Given the description of an element on the screen output the (x, y) to click on. 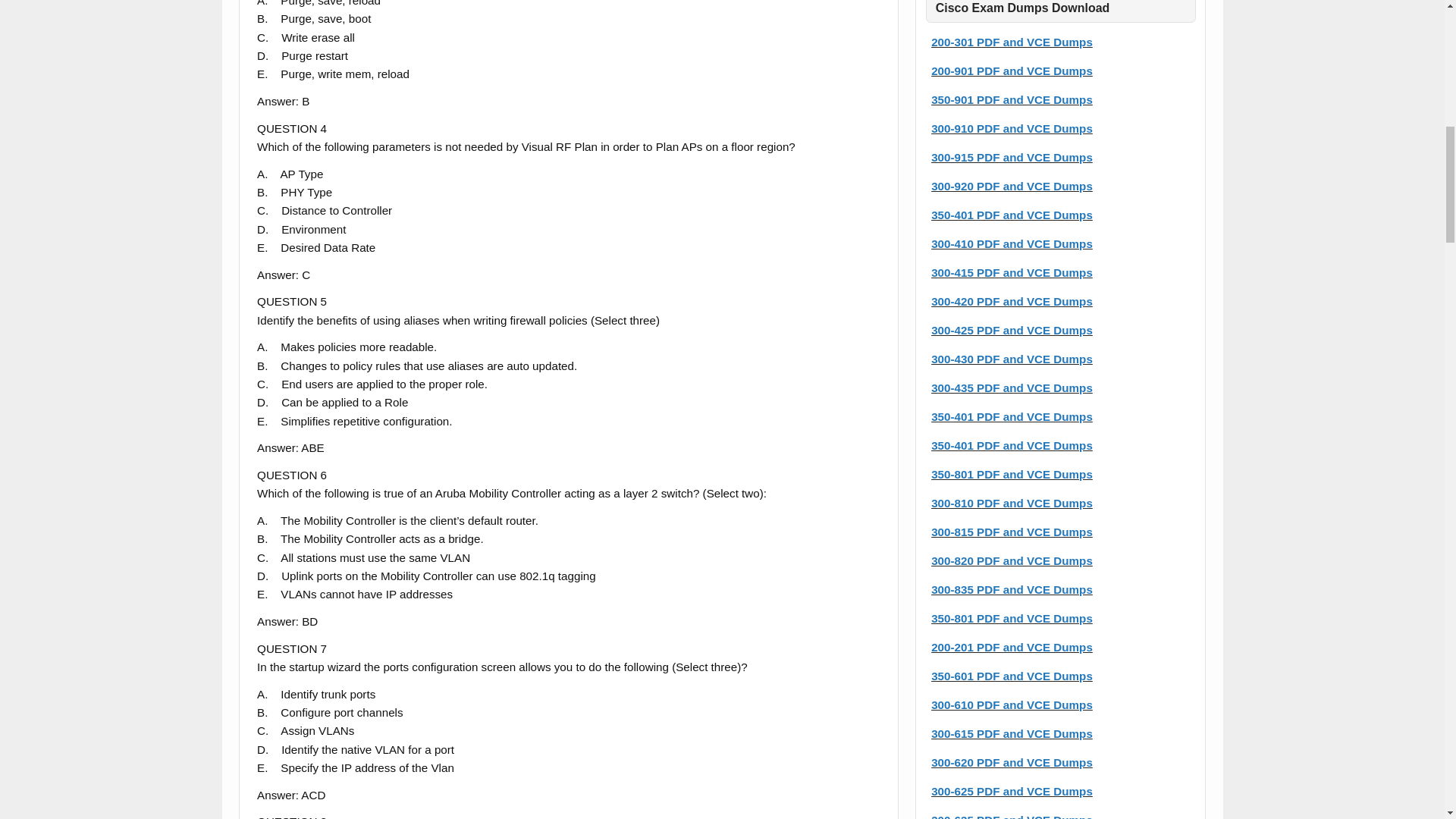
300-425 PDF and VCE Dumps (1012, 329)
300-430 PDF and VCE Dumps (1012, 358)
350-901 PDF and VCE Dumps (1012, 99)
300-410 PDF and VCE Dumps (1012, 243)
300-910 PDF and VCE Dumps (1012, 128)
200-301 PDF and VCE Dumps (1012, 42)
350-401 PDF and VCE Dumps (1012, 214)
300-920 PDF and VCE Dumps (1012, 185)
300-915 PDF and VCE Dumps (1012, 156)
300-415 PDF and VCE Dumps (1012, 272)
